Given the description of an element on the screen output the (x, y) to click on. 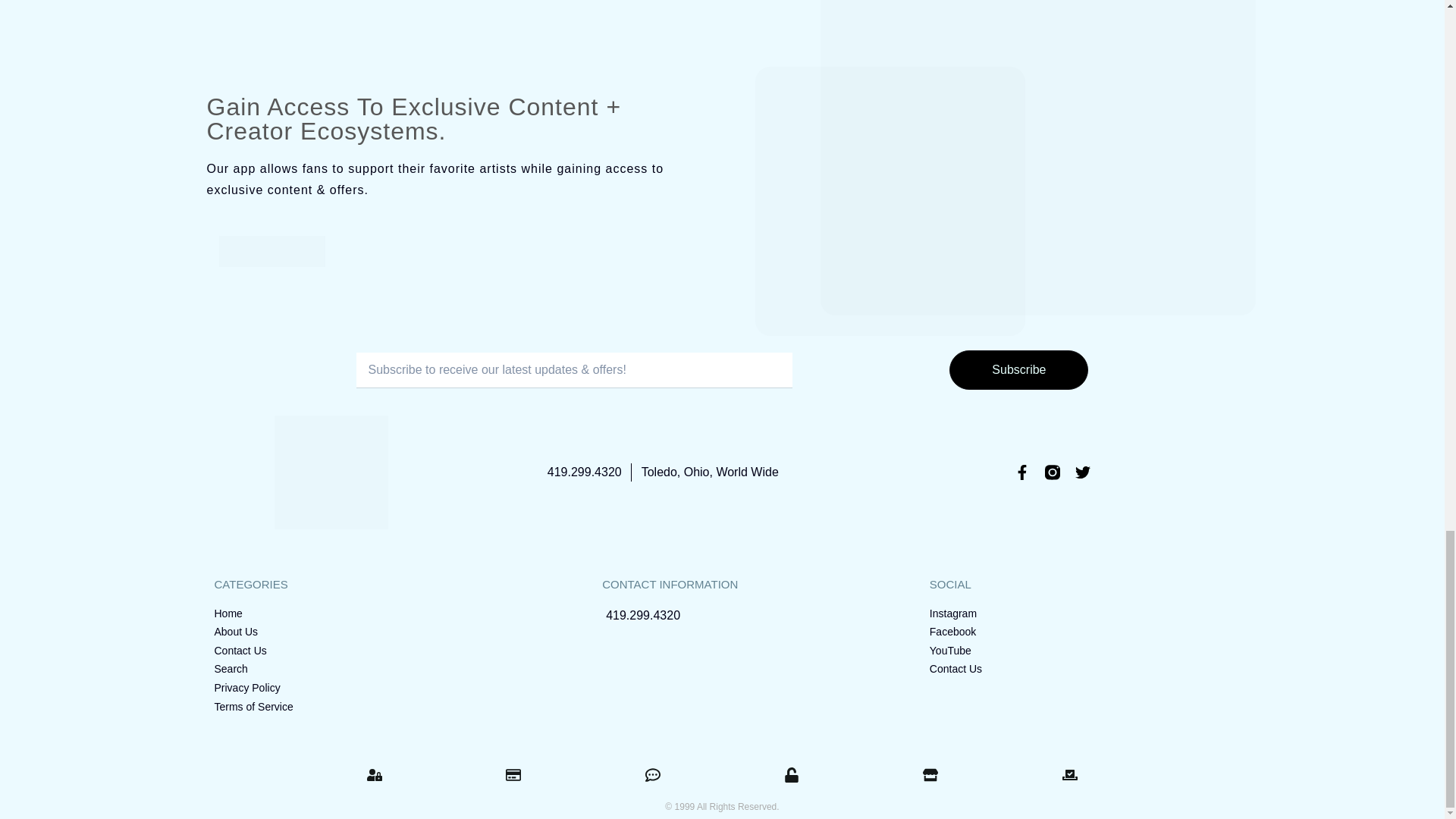
Home (364, 613)
419.299.4320 (727, 615)
419.299.4320 (584, 472)
Instagram (1080, 613)
YouTube (1080, 651)
Terms of Service (364, 707)
Subscribe (1018, 369)
About Us (364, 631)
Search (364, 669)
Contact Us (364, 651)
Privacy Policy (364, 688)
Facebook (1080, 631)
Contact Us (1080, 669)
